Given the description of an element on the screen output the (x, y) to click on. 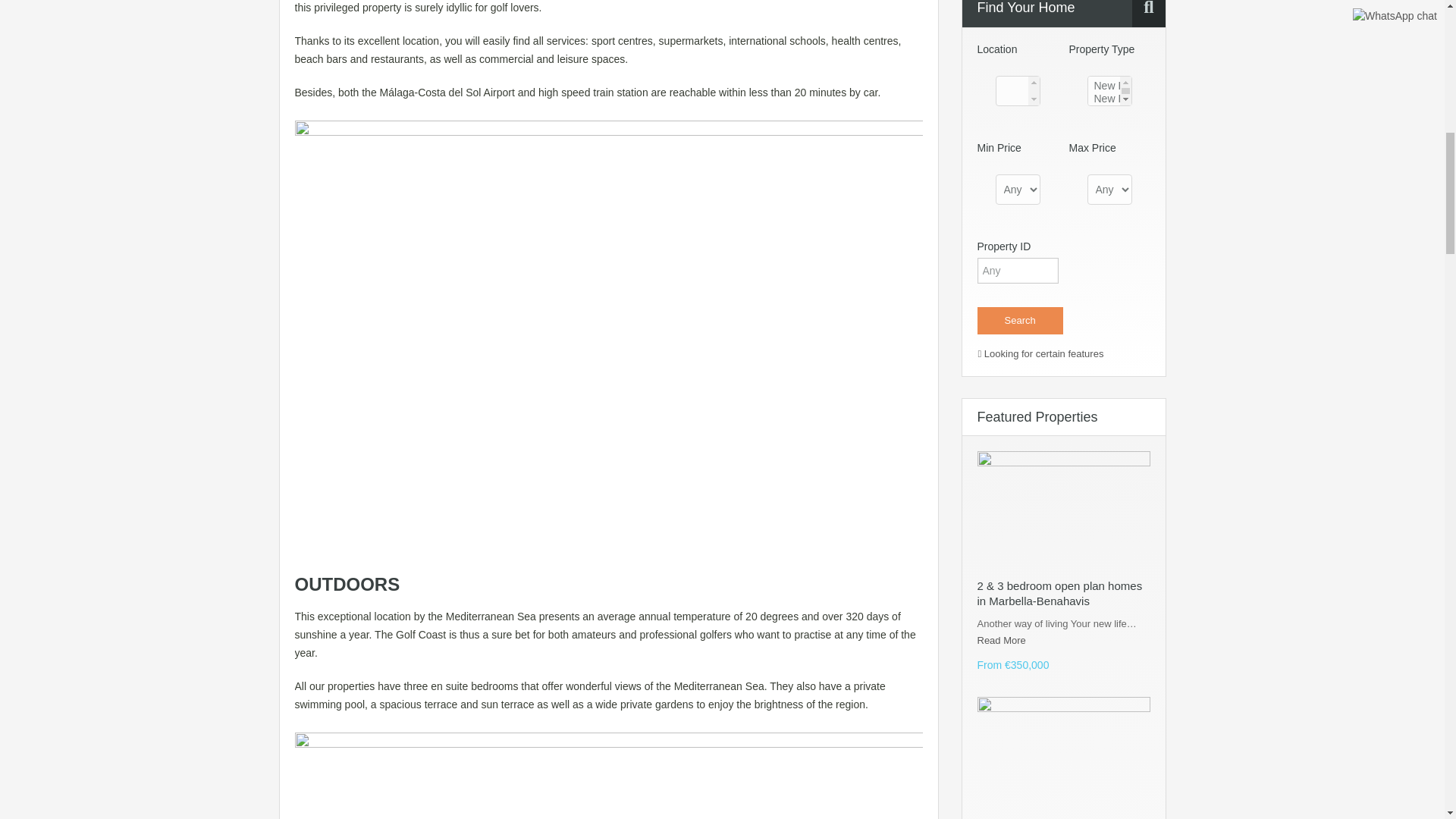
All Types (1109, 91)
All Locations (1016, 91)
Search (1019, 320)
